Given the description of an element on the screen output the (x, y) to click on. 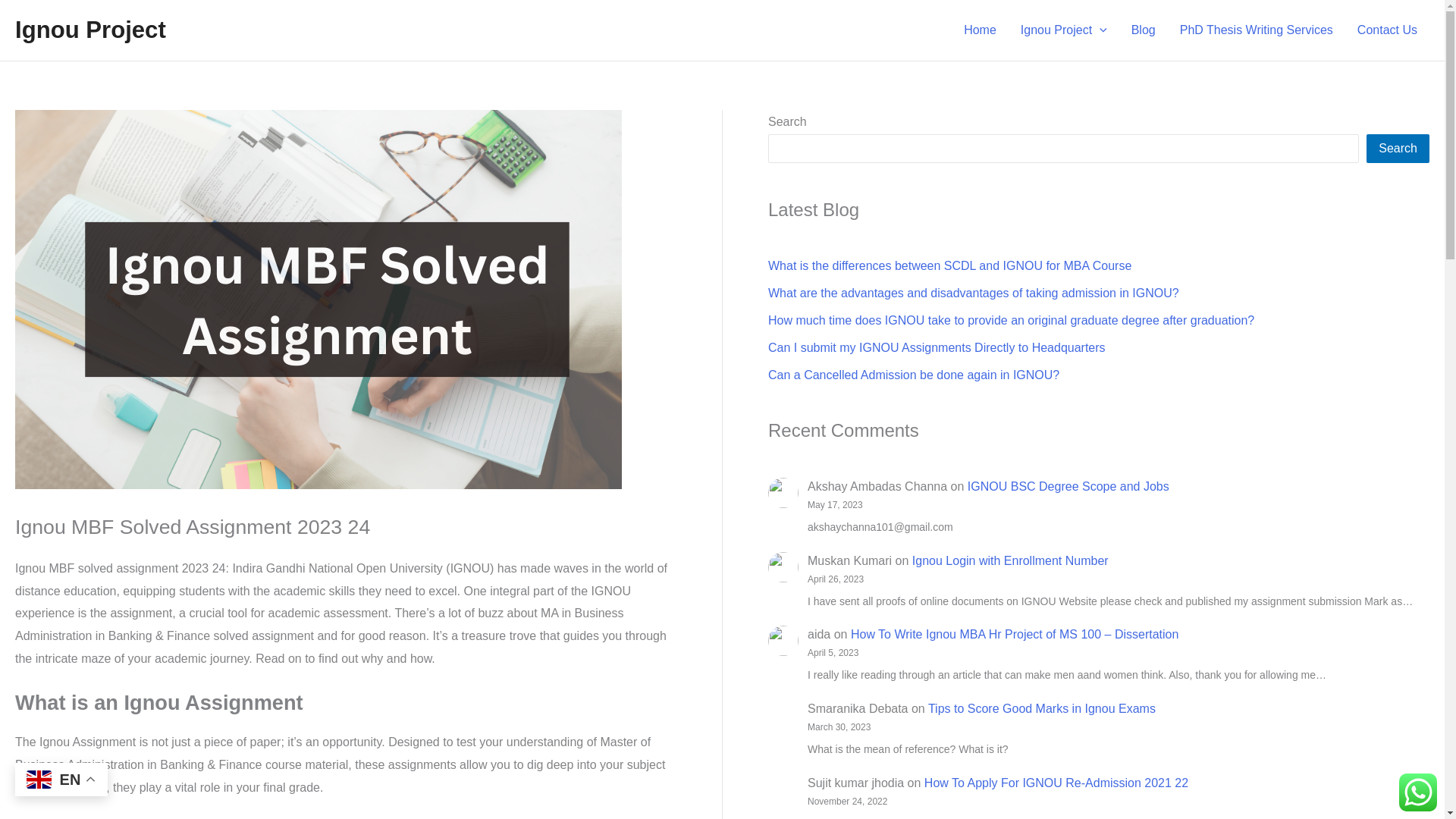
PhD Thesis Writing Services (1256, 30)
Ignou Project (1064, 30)
Blog (1143, 30)
Contact Us (1387, 30)
Ignou Project (89, 29)
Home (980, 30)
